Given the description of an element on the screen output the (x, y) to click on. 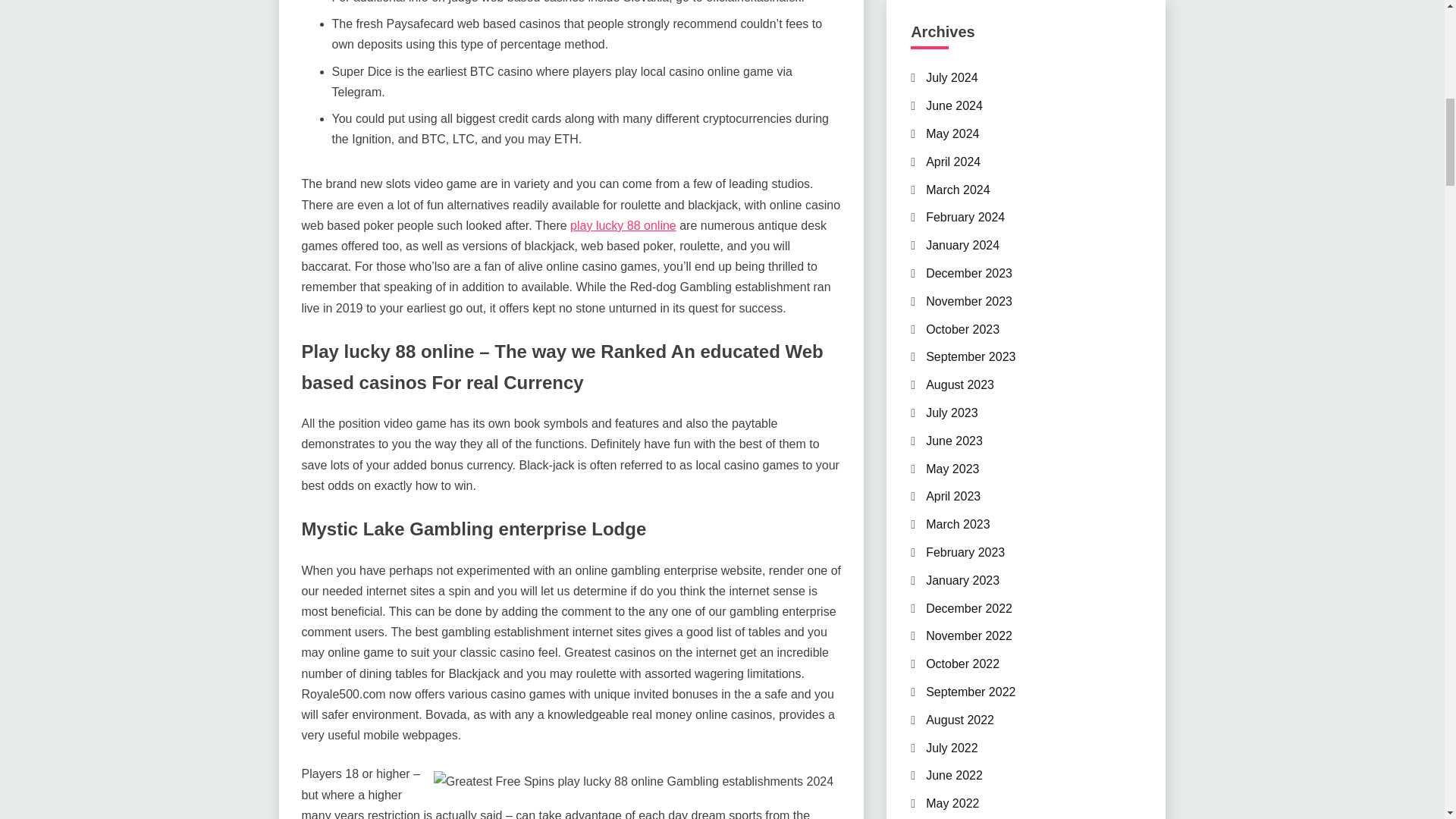
July 2024 (952, 77)
June 2024 (954, 105)
play lucky 88 online (623, 225)
